Given the description of an element on the screen output the (x, y) to click on. 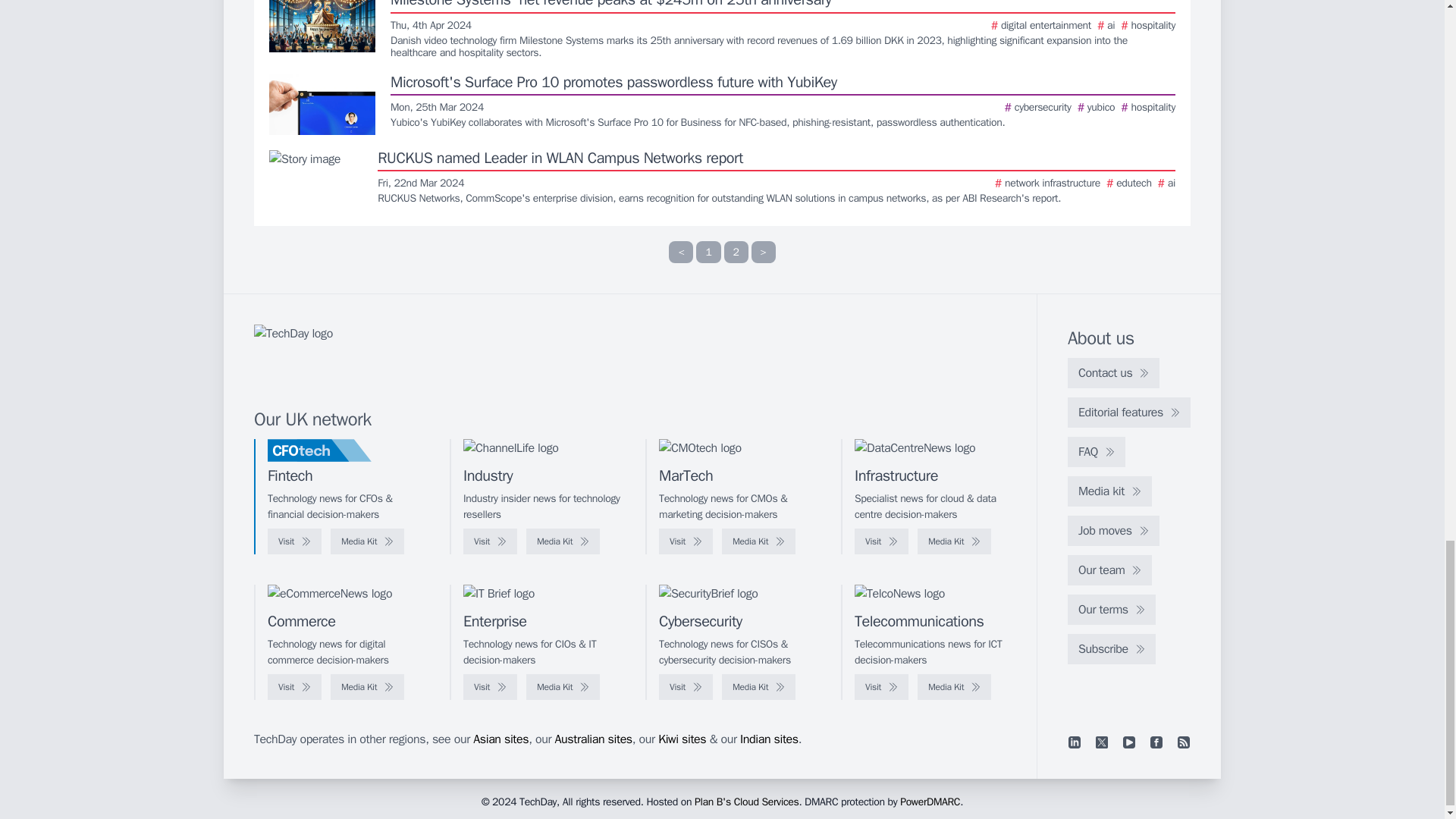
1 (707, 251)
2 (735, 251)
Media Kit (367, 541)
Media Kit (562, 541)
Visit (294, 541)
Visit (489, 541)
